Given the description of an element on the screen output the (x, y) to click on. 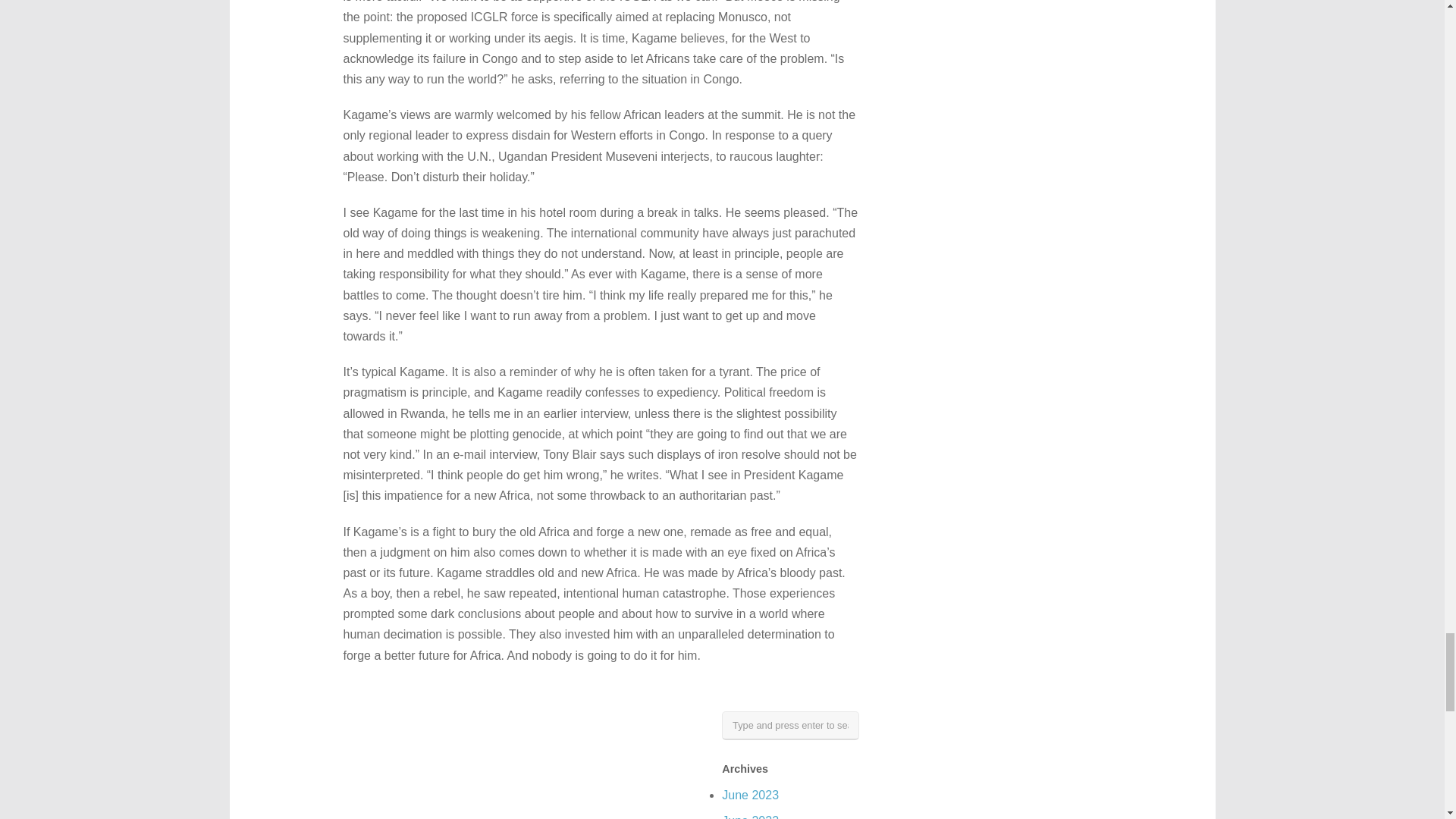
Type and press enter to search. (790, 725)
June 2023 (750, 794)
June 2022 (750, 816)
